Given the description of an element on the screen output the (x, y) to click on. 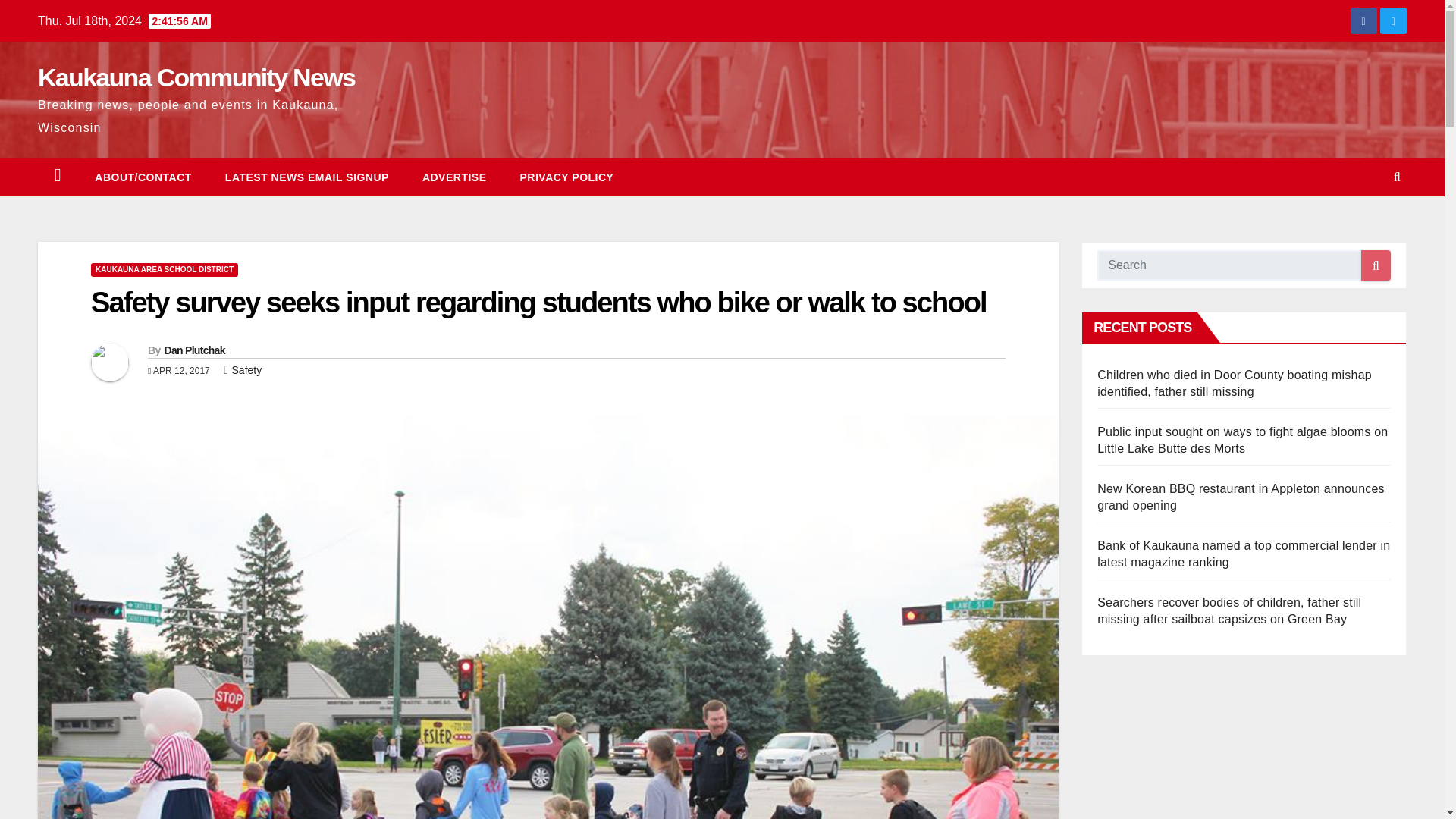
PRIVACY POLICY (566, 177)
Safety (246, 369)
ADVERTISE (454, 177)
KAUKAUNA AREA SCHOOL DISTRICT (164, 269)
Dan Plutchak (193, 349)
LATEST NEWS EMAIL SIGNUP (307, 177)
Kaukauna Community News (196, 77)
